Given the description of an element on the screen output the (x, y) to click on. 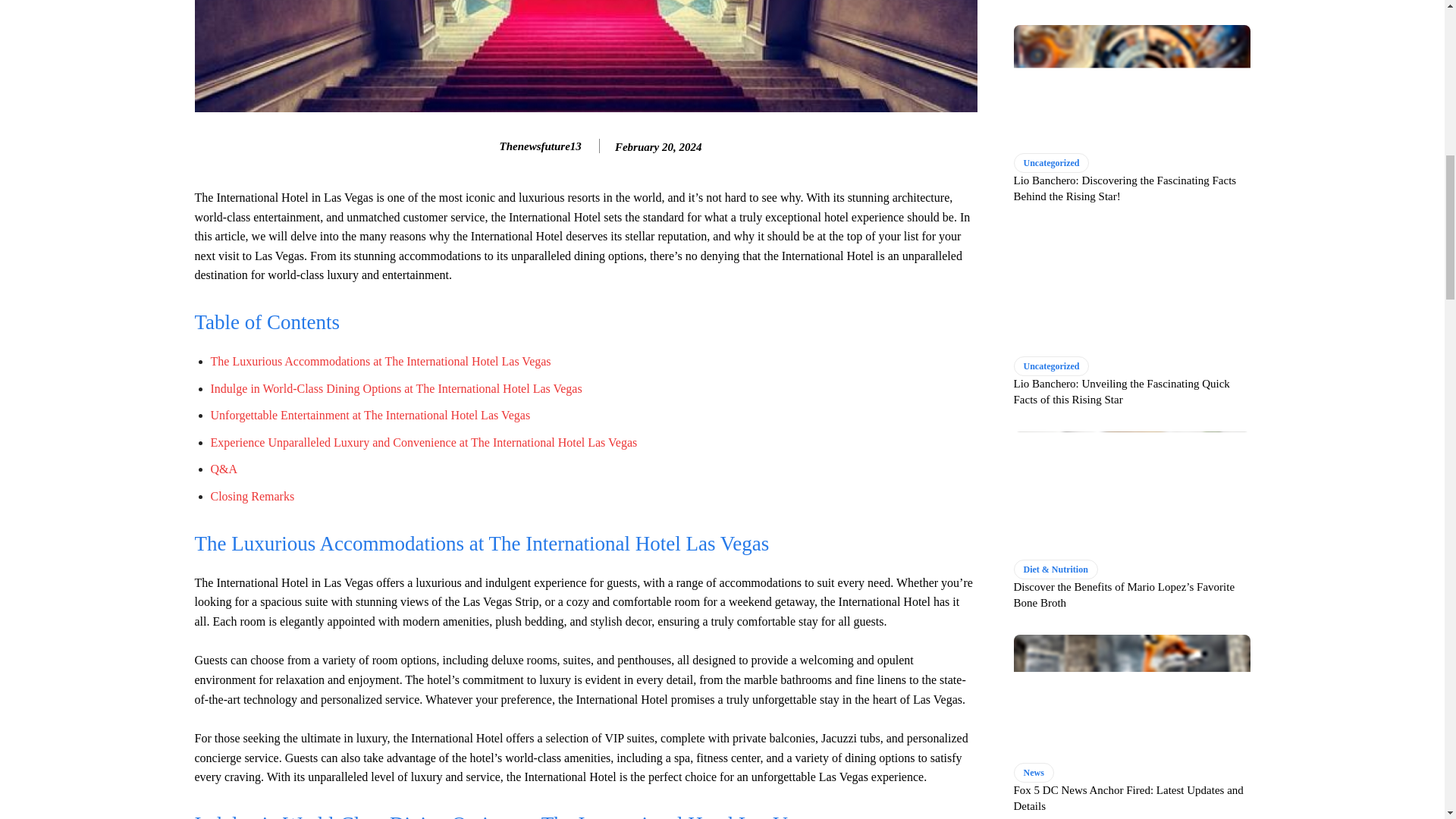
thenewsfuture13 (483, 146)
